Given the description of an element on the screen output the (x, y) to click on. 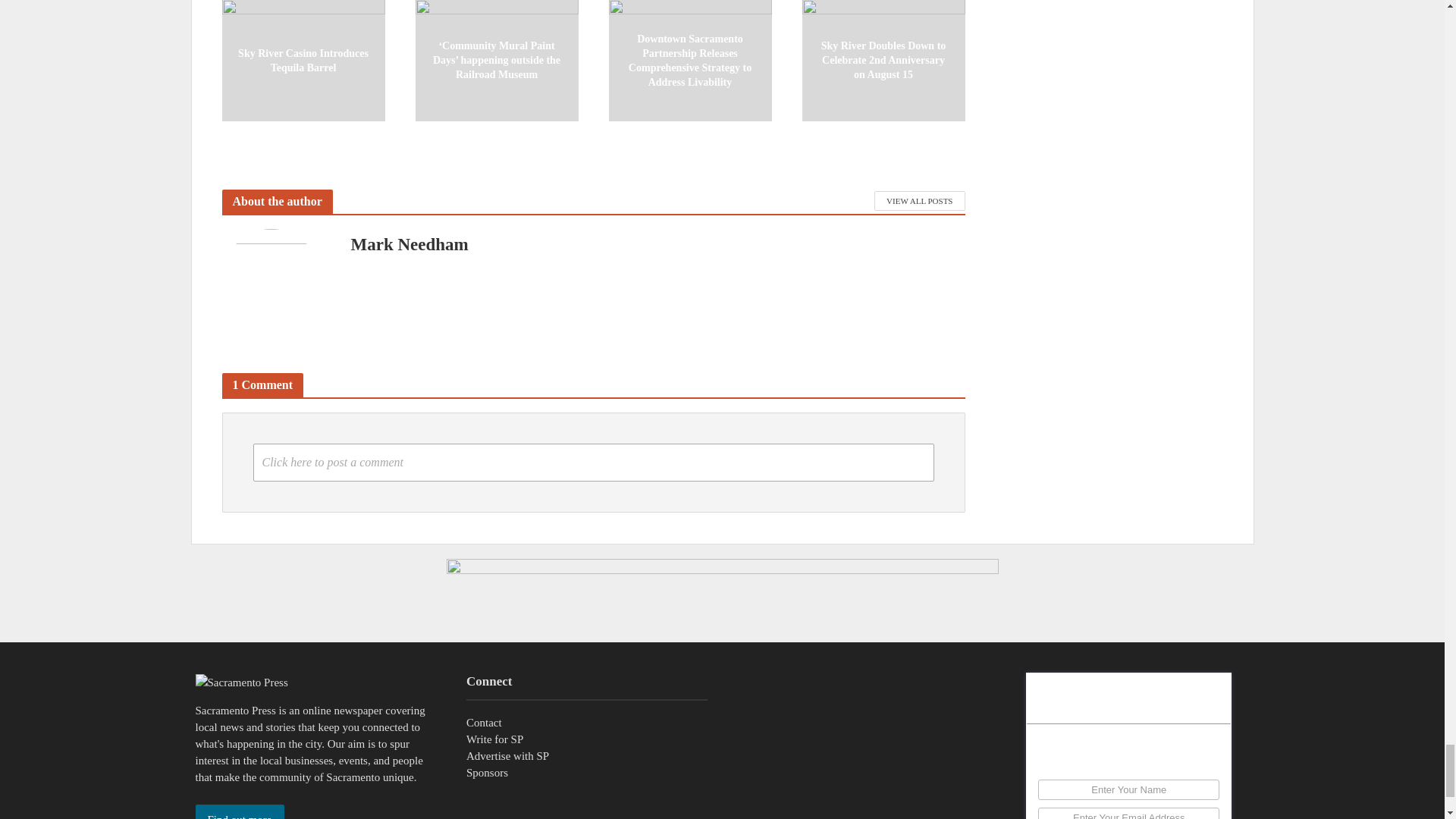
Sky River Casino Introduces Tequila Barrel (302, 58)
